Given the description of an element on the screen output the (x, y) to click on. 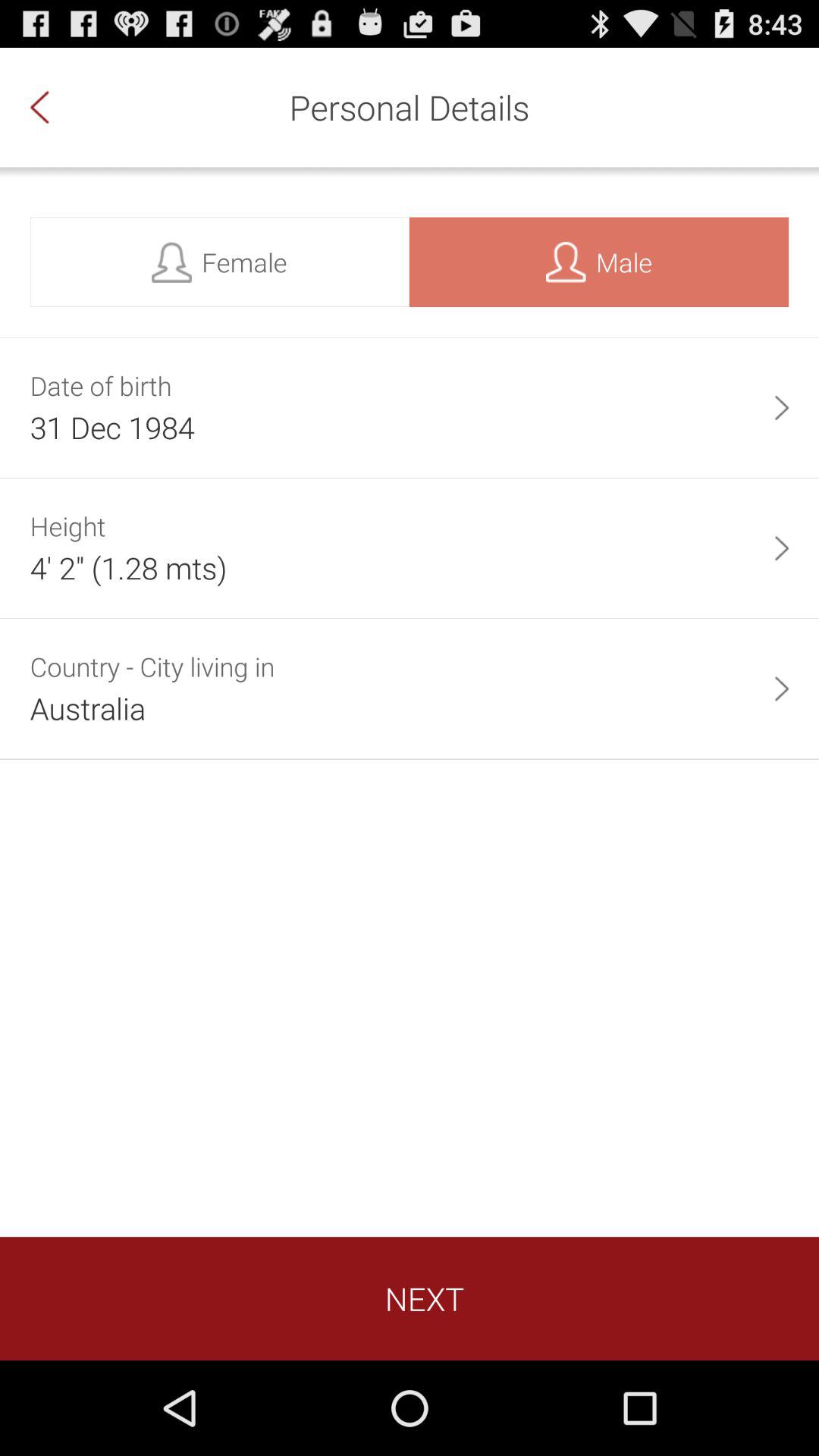
turn on the app next to 4 2 1 (781, 547)
